Given the description of an element on the screen output the (x, y) to click on. 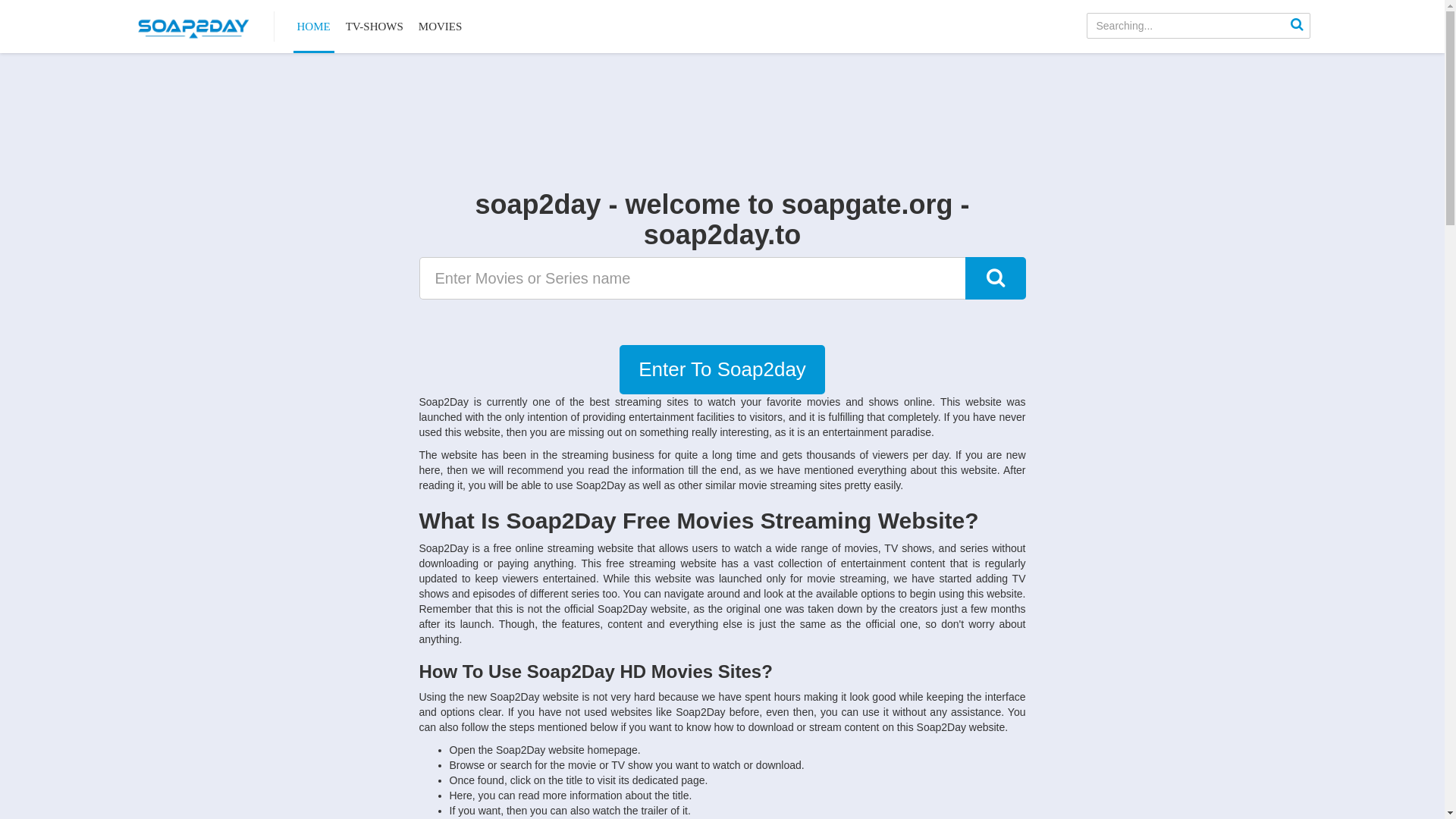
Search Element type: hover (1297, 25)
123 Movies Online Element type: hover (192, 26)
MOVIES Element type: text (440, 26)
HOME Element type: text (312, 26)
Search Element type: hover (994, 278)
Enter To Soap2day Element type: text (722, 369)
TV-SHOWS Element type: text (374, 26)
